Given the description of an element on the screen output the (x, y) to click on. 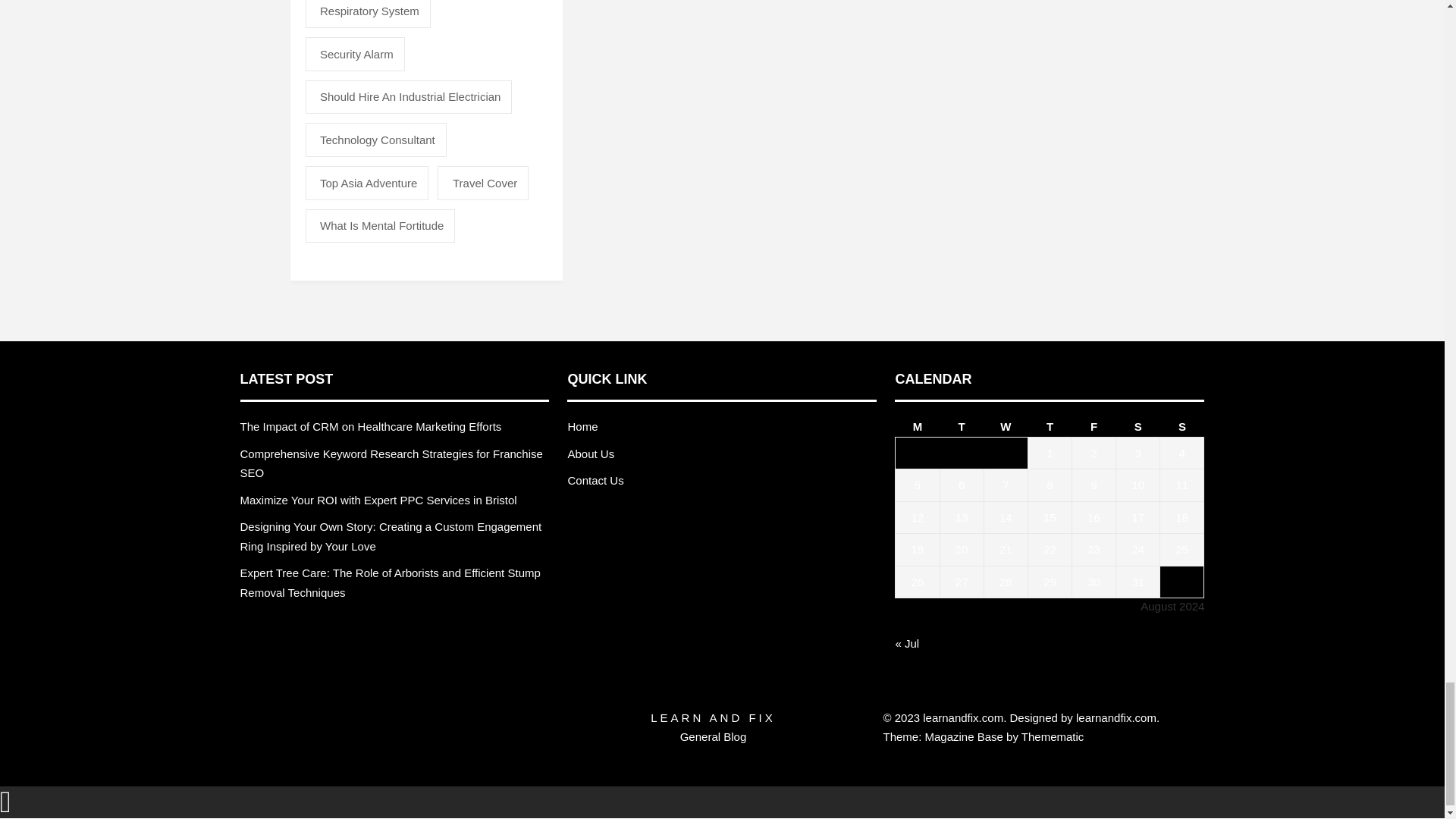
Friday (1093, 426)
Monday (917, 426)
Sunday (1182, 426)
Wednesday (1005, 426)
Thursday (1049, 426)
Saturday (1138, 426)
Tuesday (961, 426)
